Given the description of an element on the screen output the (x, y) to click on. 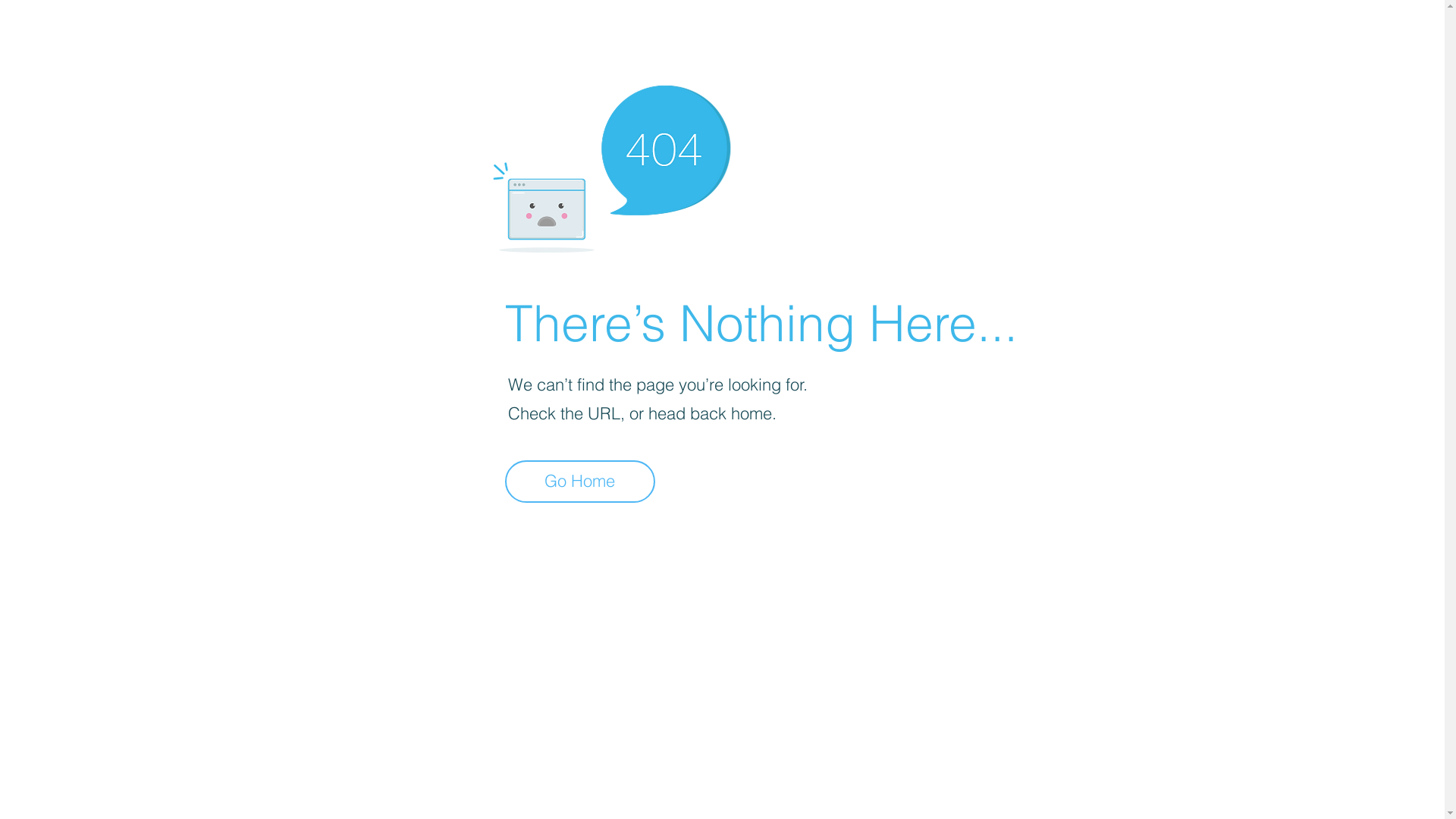
Go Home Element type: text (580, 481)
404-icon_2.png Element type: hover (610, 164)
